Given the description of an element on the screen output the (x, y) to click on. 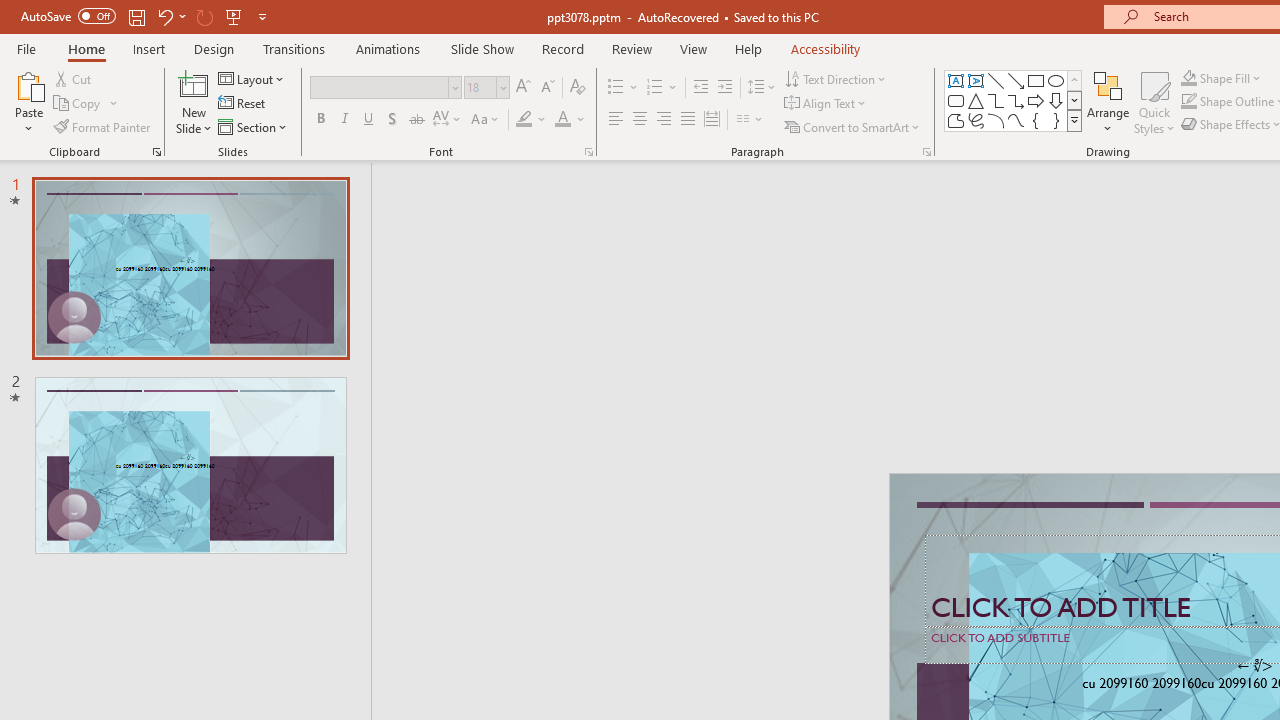
Italic (344, 119)
